Given the description of an element on the screen output the (x, y) to click on. 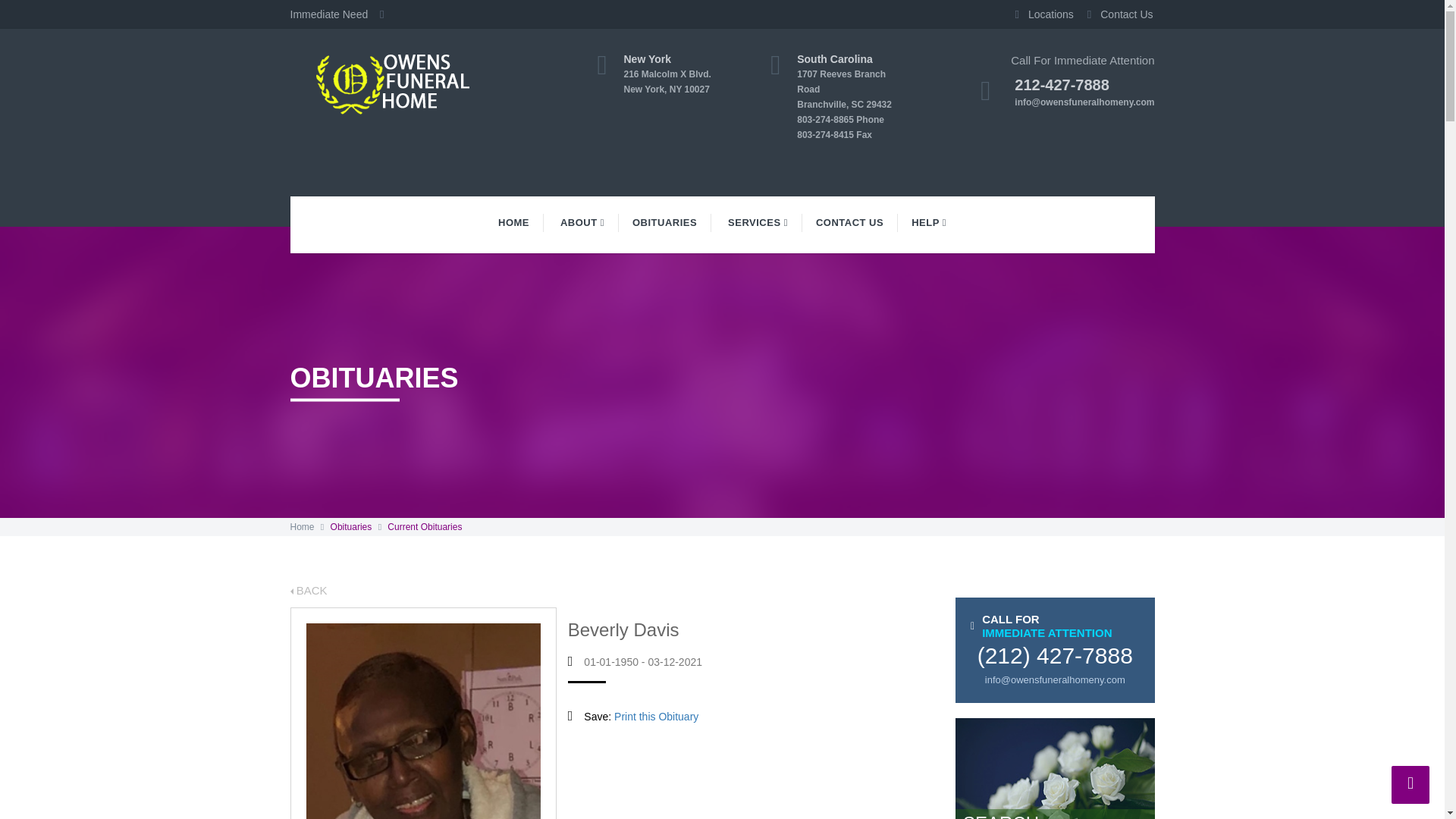
HOME (513, 222)
Contact Us (679, 74)
OBITUARIES (1115, 14)
ABOUT (664, 222)
Immediate Need (582, 222)
Locations (341, 14)
SERVICES (1039, 14)
